Given the description of an element on the screen output the (x, y) to click on. 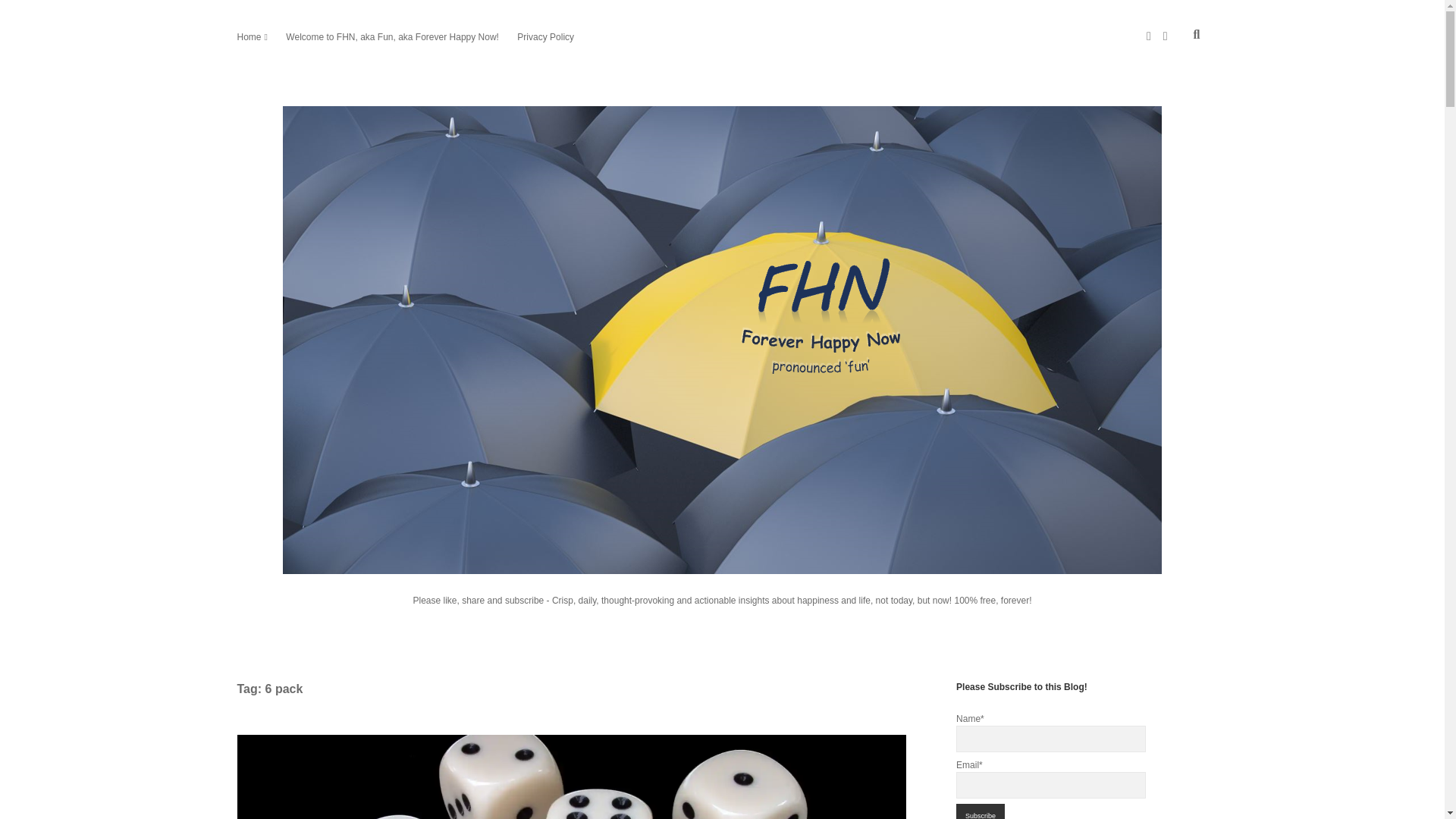
Home (247, 37)
Subscribe (980, 811)
Welcome to FHN, aka Fun, aka Forever Happy Now! (392, 37)
Subscribe (980, 811)
Forever Happy Now! (721, 560)
Privacy Policy (544, 37)
The six-pack (570, 776)
